Given the description of an element on the screen output the (x, y) to click on. 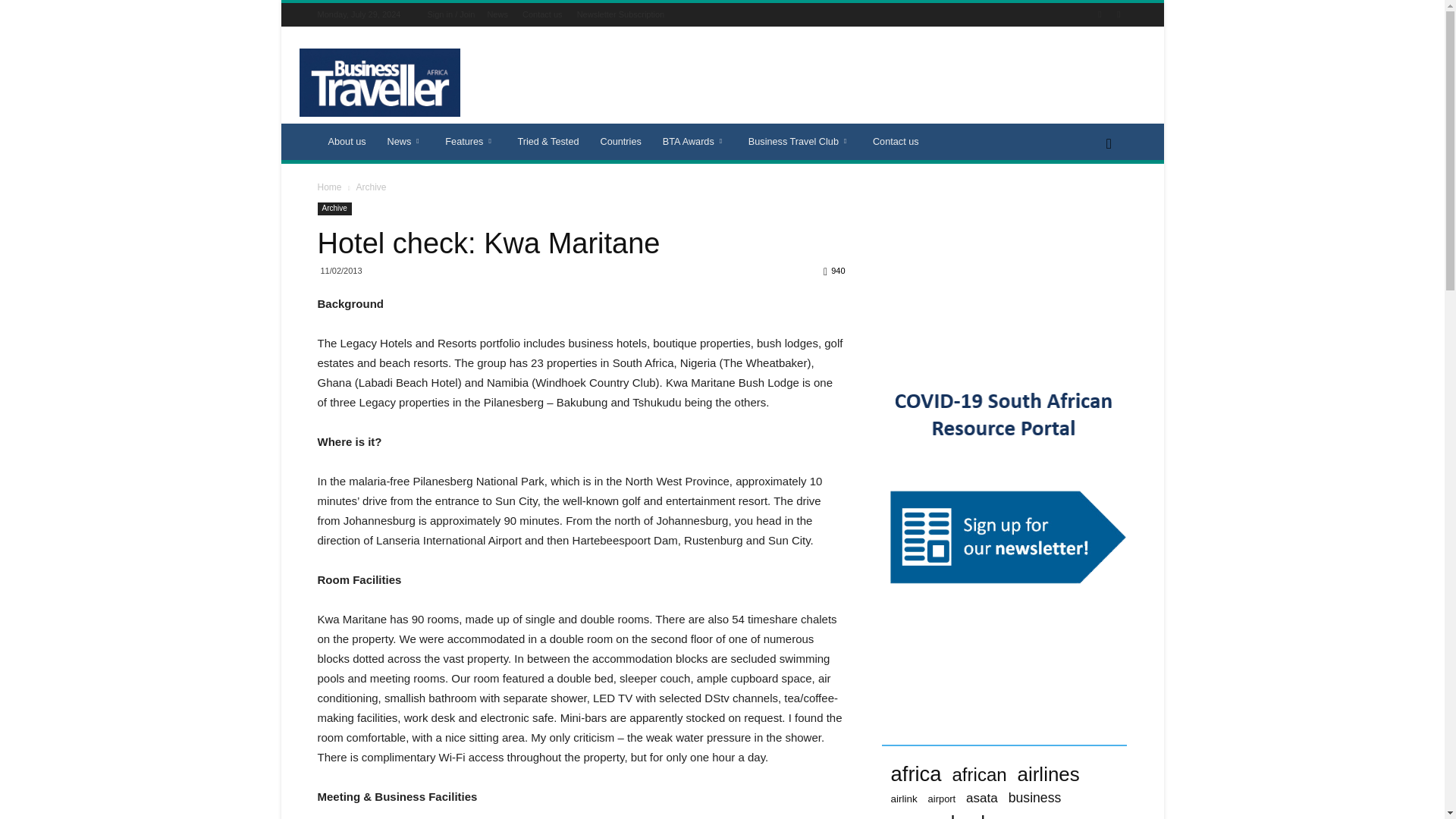
Newsletter Subscription (620, 13)
Facebook (1099, 13)
News (406, 141)
Contact us (542, 13)
News (497, 13)
YouTube video player (1003, 271)
About us (346, 141)
Twitter (1117, 13)
View all posts in Archive (370, 186)
